Given the description of an element on the screen output the (x, y) to click on. 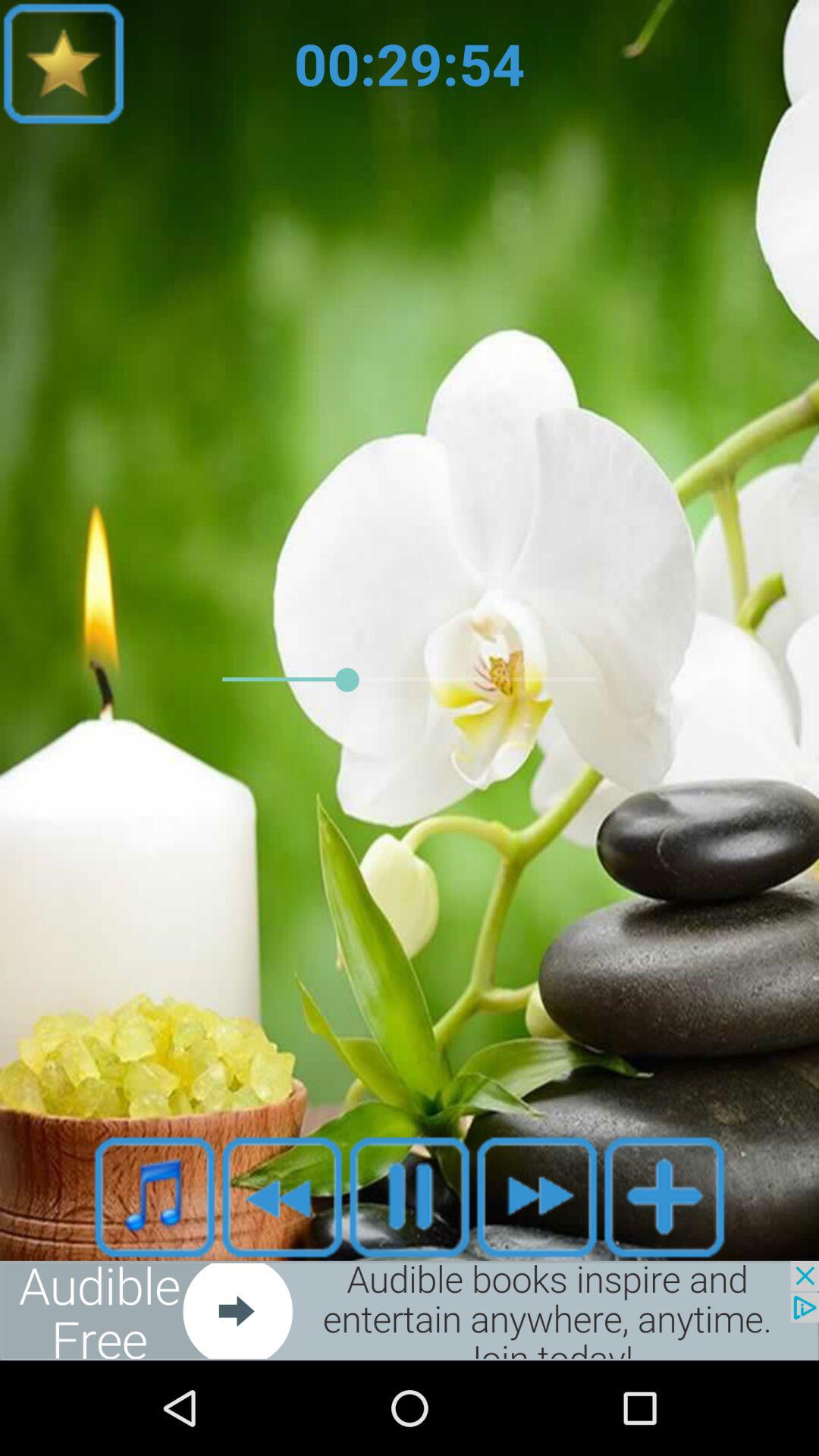
pause music (409, 1196)
